Given the description of an element on the screen output the (x, y) to click on. 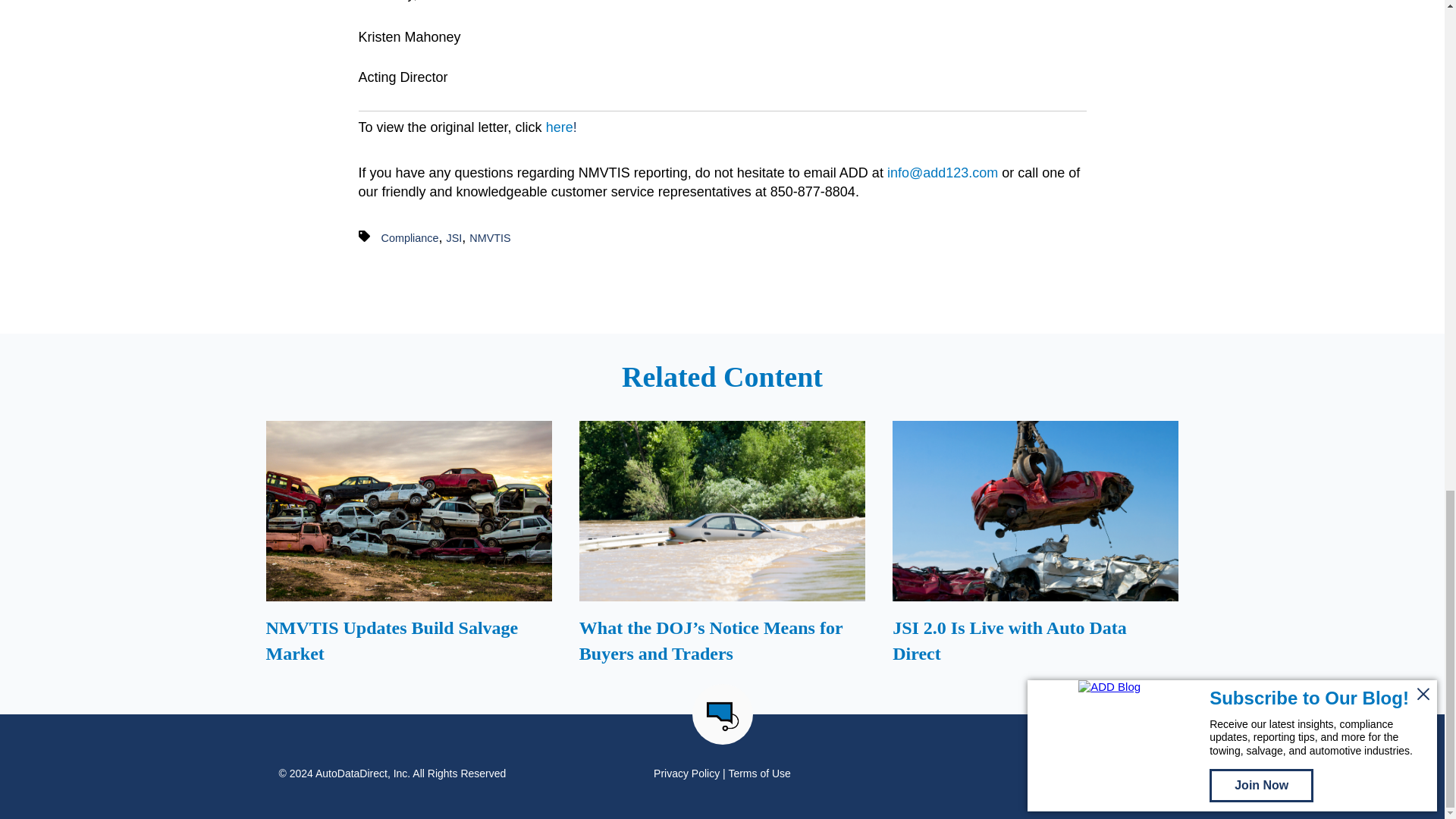
LinkedIn (1151, 773)
ADD-Bug (722, 716)
JSI (454, 237)
Terms of Use (759, 773)
NMVTIS (489, 237)
Privacy Policy (686, 773)
here (559, 127)
Compliance (410, 237)
Facebook (1106, 773)
Twitter (1129, 773)
JSI 2.0 Is Live with Auto Data Direct (1035, 547)
NMVTIS Updates Build Salvage Market (407, 547)
